Given the description of an element on the screen output the (x, y) to click on. 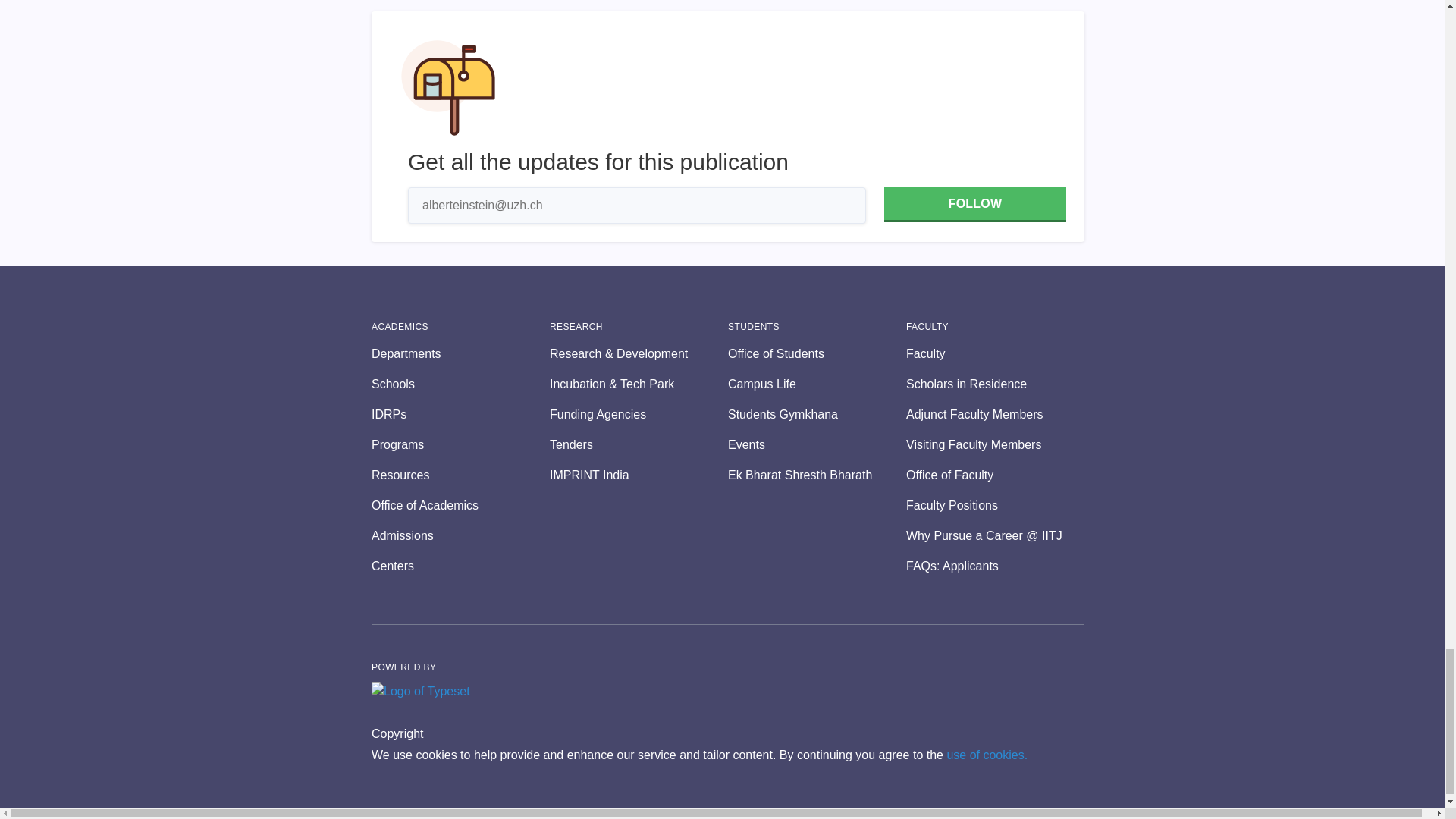
Programs (460, 444)
Logo of Typeset (420, 691)
FOLLOW (974, 204)
Office of Academics (460, 505)
Resources (460, 475)
Schools (460, 384)
Admissions (460, 536)
Departments (460, 353)
IDRPs (460, 414)
Subscribe form hero illustration (448, 87)
